Given the description of an element on the screen output the (x, y) to click on. 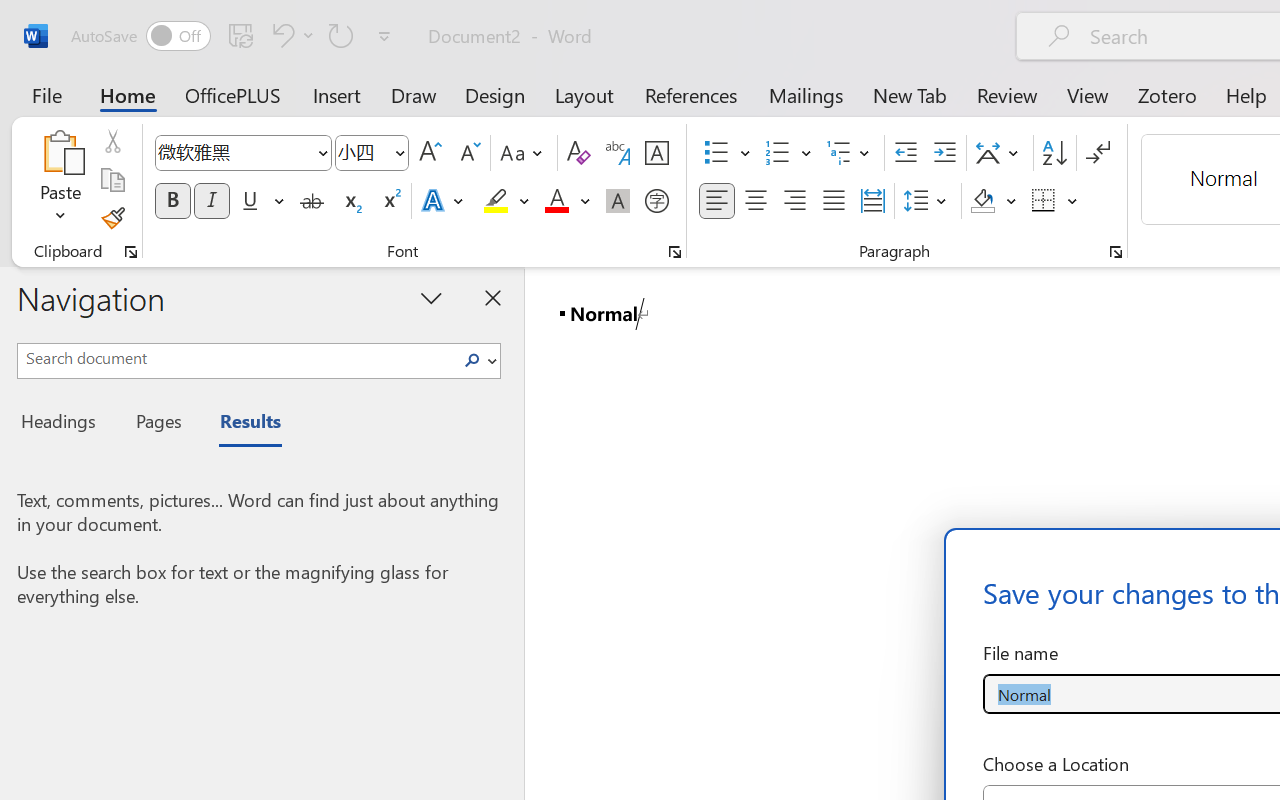
Line and Paragraph Spacing (927, 201)
Sort... (1054, 153)
Subscript (350, 201)
View (1087, 94)
Font Color Red (556, 201)
Task Pane Options (431, 297)
Clear Formatting (578, 153)
New Tab (909, 94)
Paste (60, 151)
Change Case (524, 153)
Copy (112, 179)
Quick Access Toolbar (233, 36)
Text Effects and Typography (444, 201)
Pages (156, 424)
Shrink Font (468, 153)
